Given the description of an element on the screen output the (x, y) to click on. 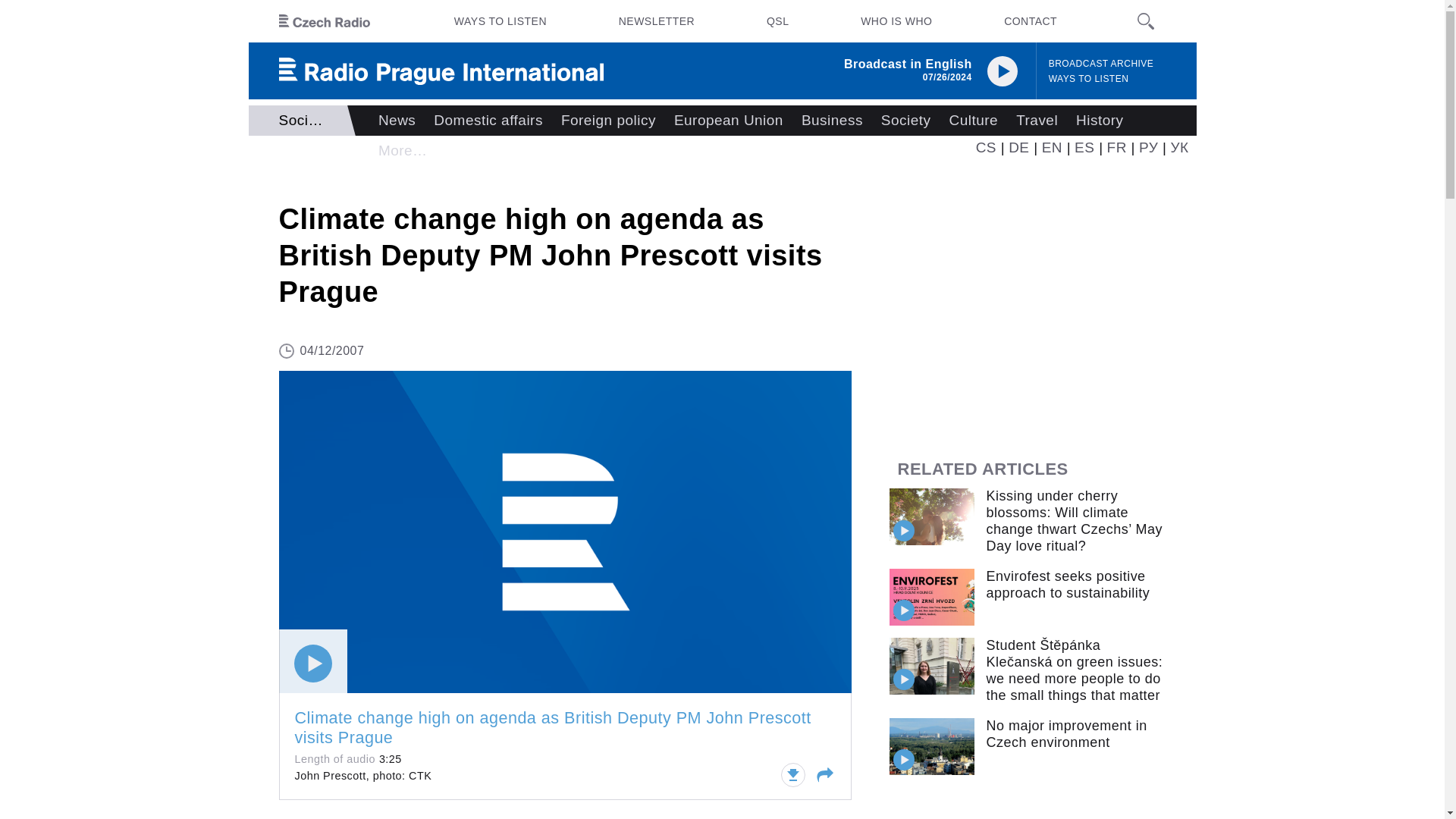
Culture (973, 120)
BROADCAST ARCHIVE (1101, 63)
WHO IS WHO (896, 21)
EN (1052, 147)
News (397, 120)
Broadcast in English  (908, 63)
CS (985, 147)
Travel (1037, 120)
Business (832, 120)
NEWSLETTER (656, 21)
ES (1084, 147)
CONTACT (1029, 21)
Foreign policy (608, 120)
Society (906, 120)
